Given the description of an element on the screen output the (x, y) to click on. 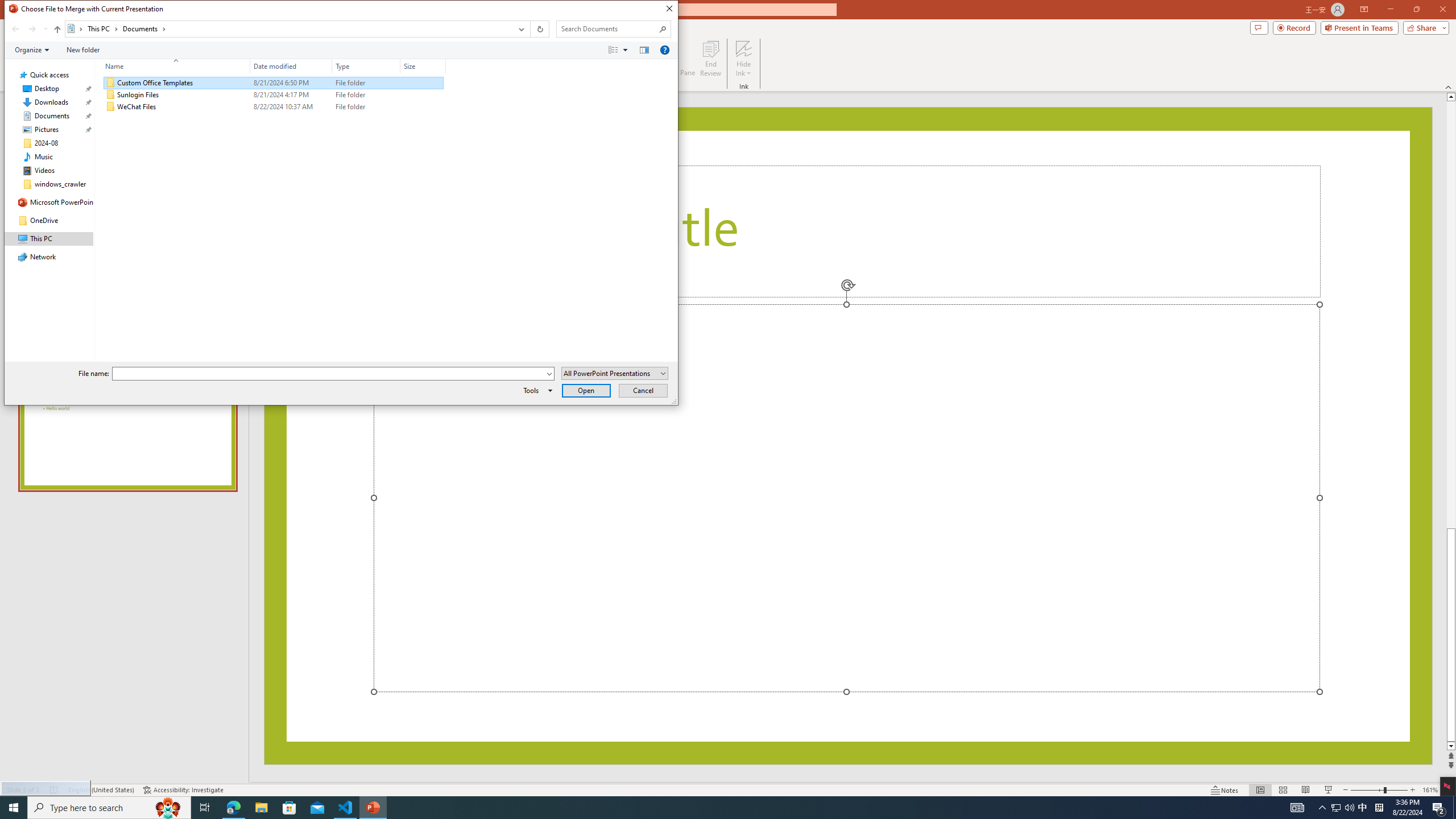
File name: (329, 373)
